Given the description of an element on the screen output the (x, y) to click on. 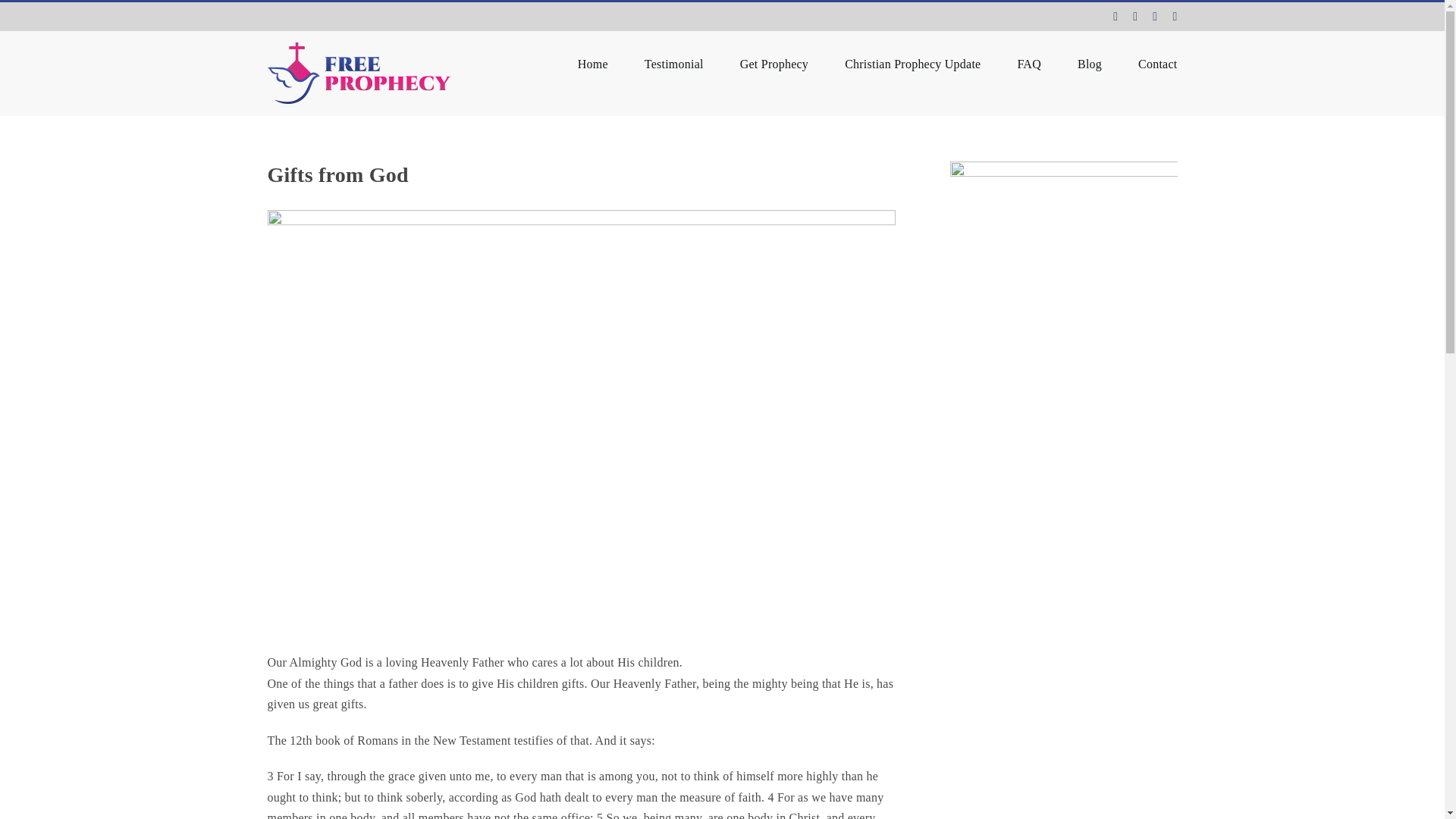
Get Prophecy (773, 63)
Christian Prophecy Update (911, 63)
Testimonial (674, 63)
